Given the description of an element on the screen output the (x, y) to click on. 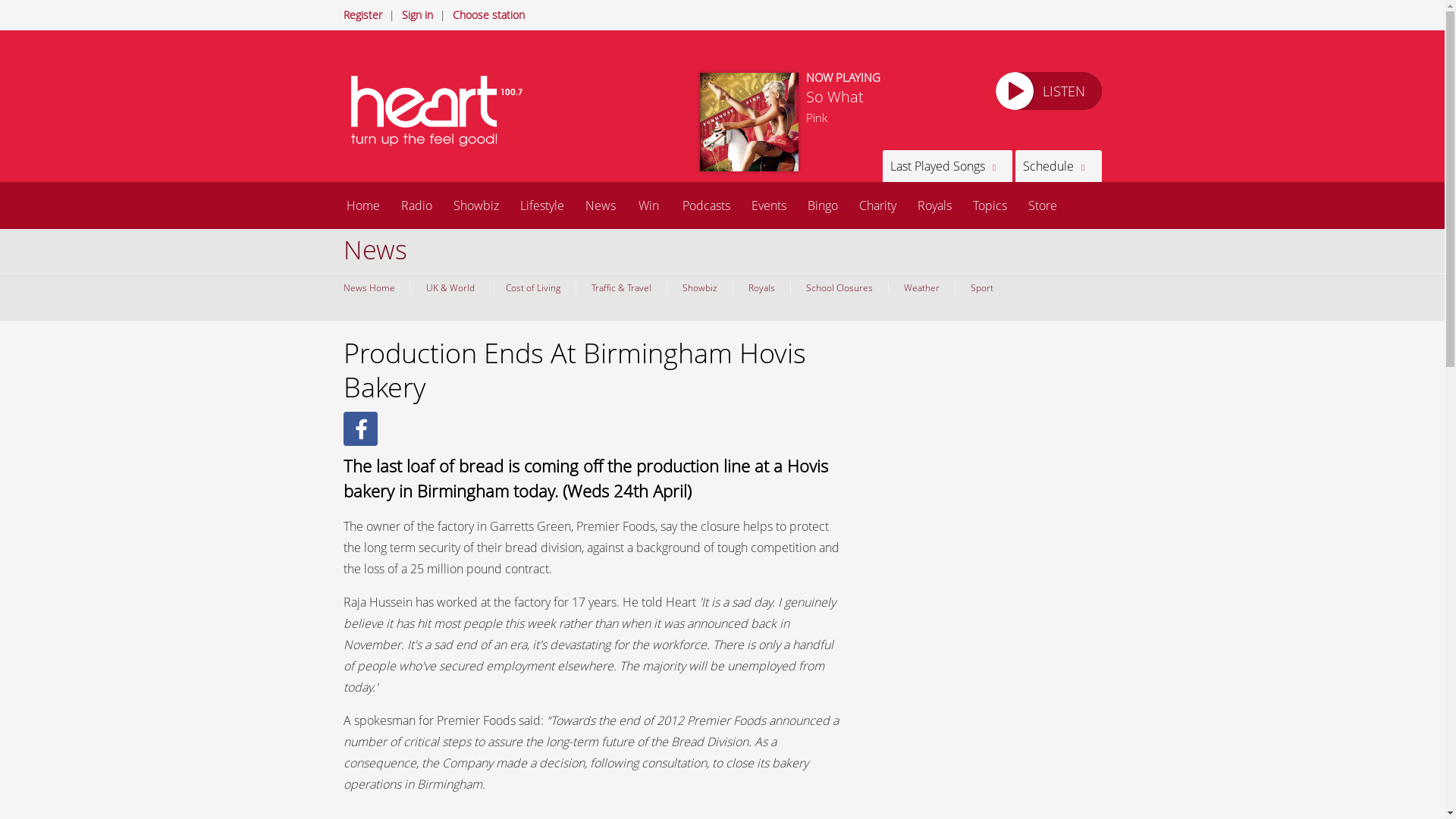
Royals (761, 287)
Showbiz (698, 287)
Royals (934, 205)
Schedule (1057, 165)
Win (648, 205)
Lifestyle (542, 205)
Showbiz (475, 205)
Weather (919, 287)
Bingo (821, 205)
School Closures (839, 287)
